Given the description of an element on the screen output the (x, y) to click on. 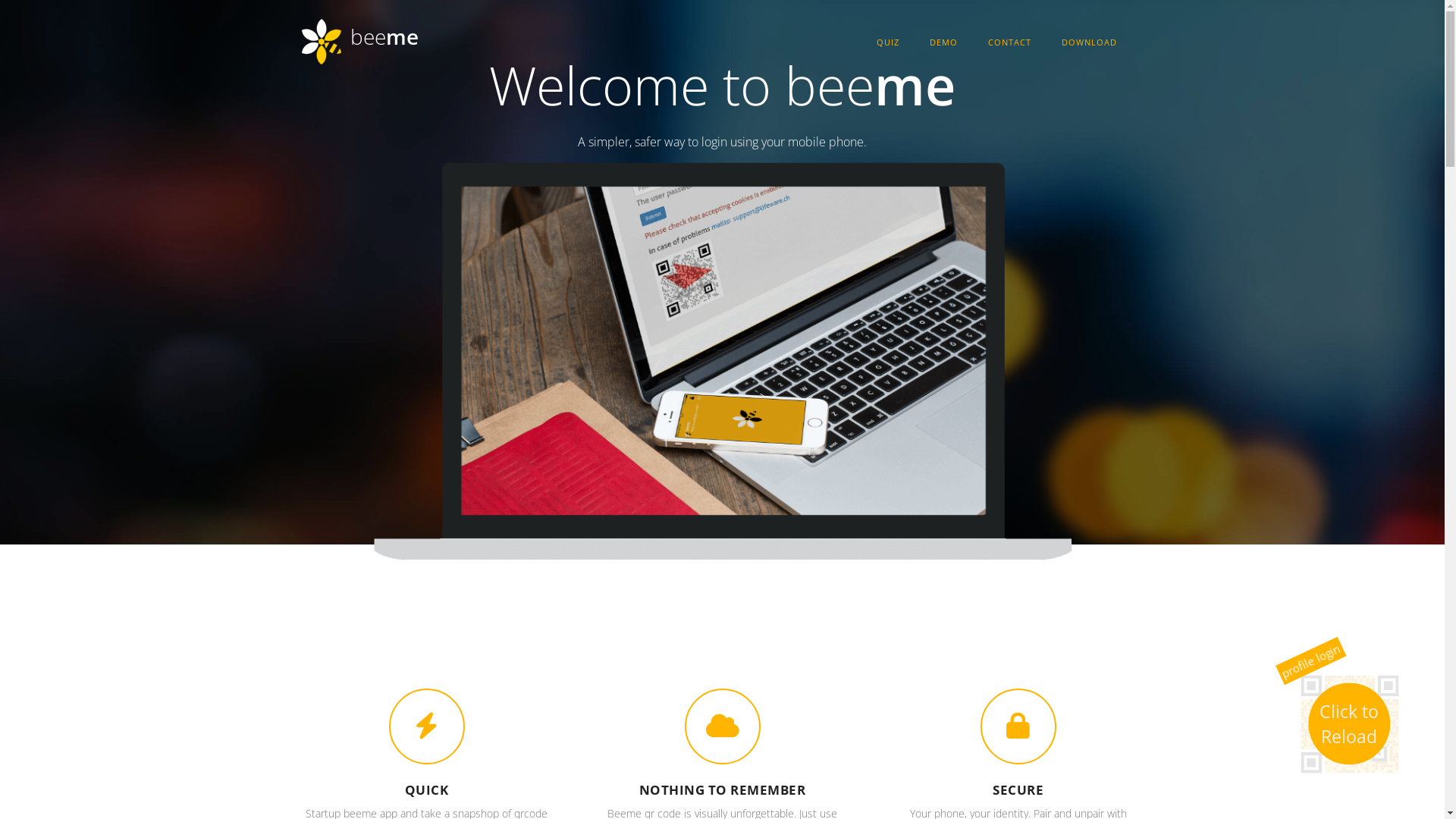
QUIZ Element type: text (887, 42)
CONTACT Element type: text (1009, 42)
DEMO Element type: text (942, 42)
beeme Element type: text (384, 35)
DOWNLOAD Element type: text (1088, 42)
